Given the description of an element on the screen output the (x, y) to click on. 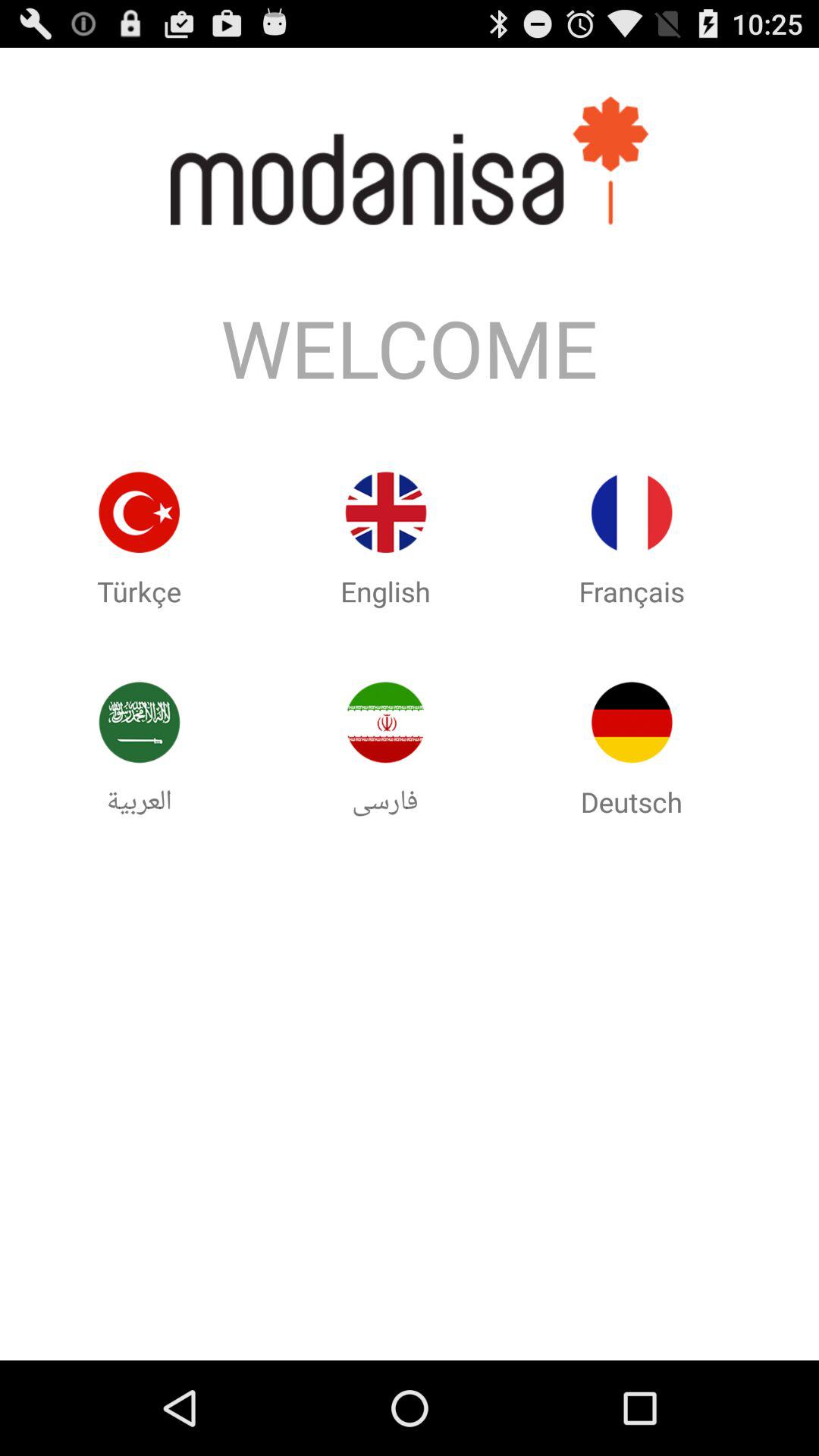
choose language (631, 512)
